Given the description of an element on the screen output the (x, y) to click on. 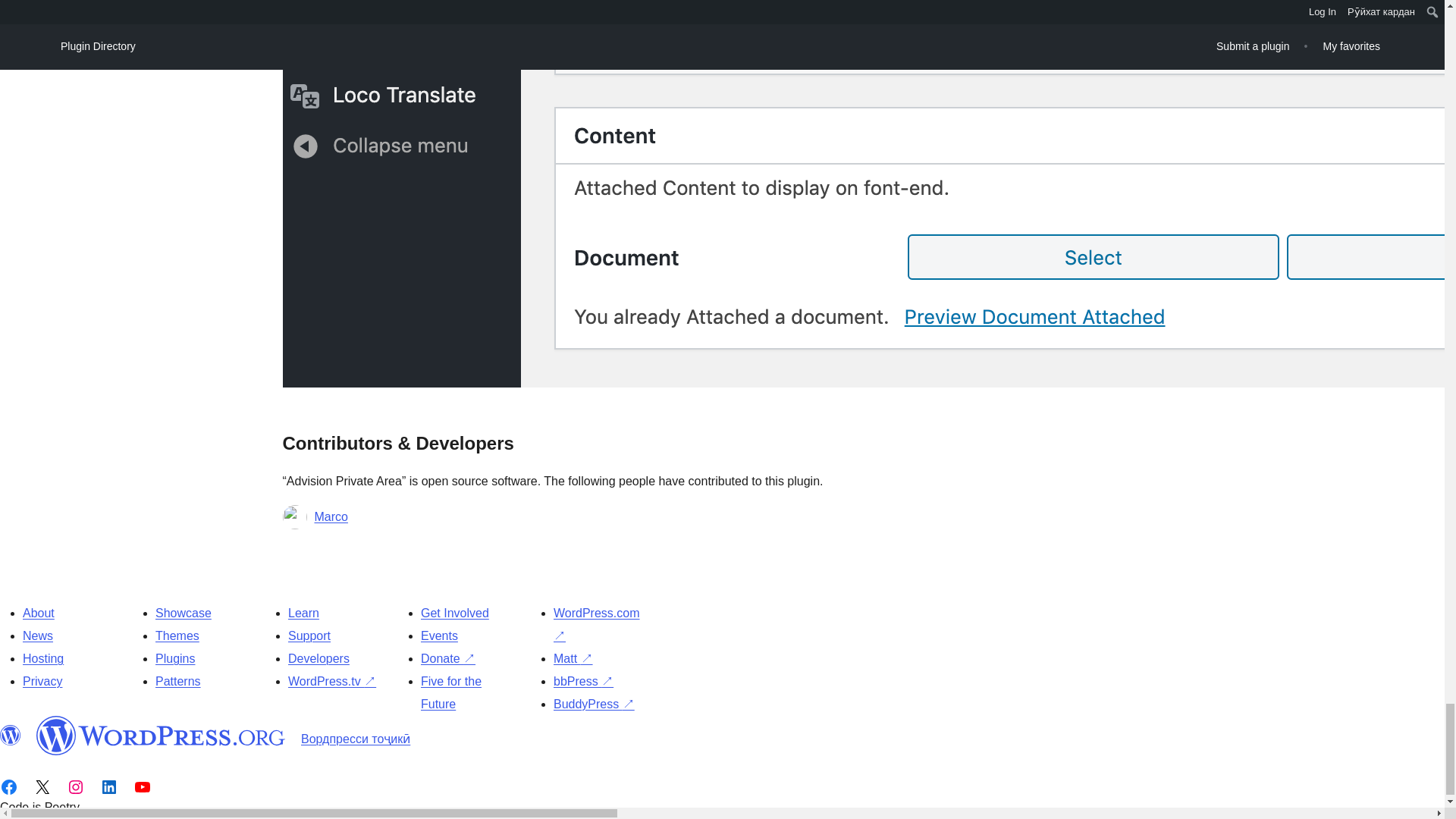
WordPress.org (10, 735)
Marco (330, 517)
WordPress.org (160, 735)
